Given the description of an element on the screen output the (x, y) to click on. 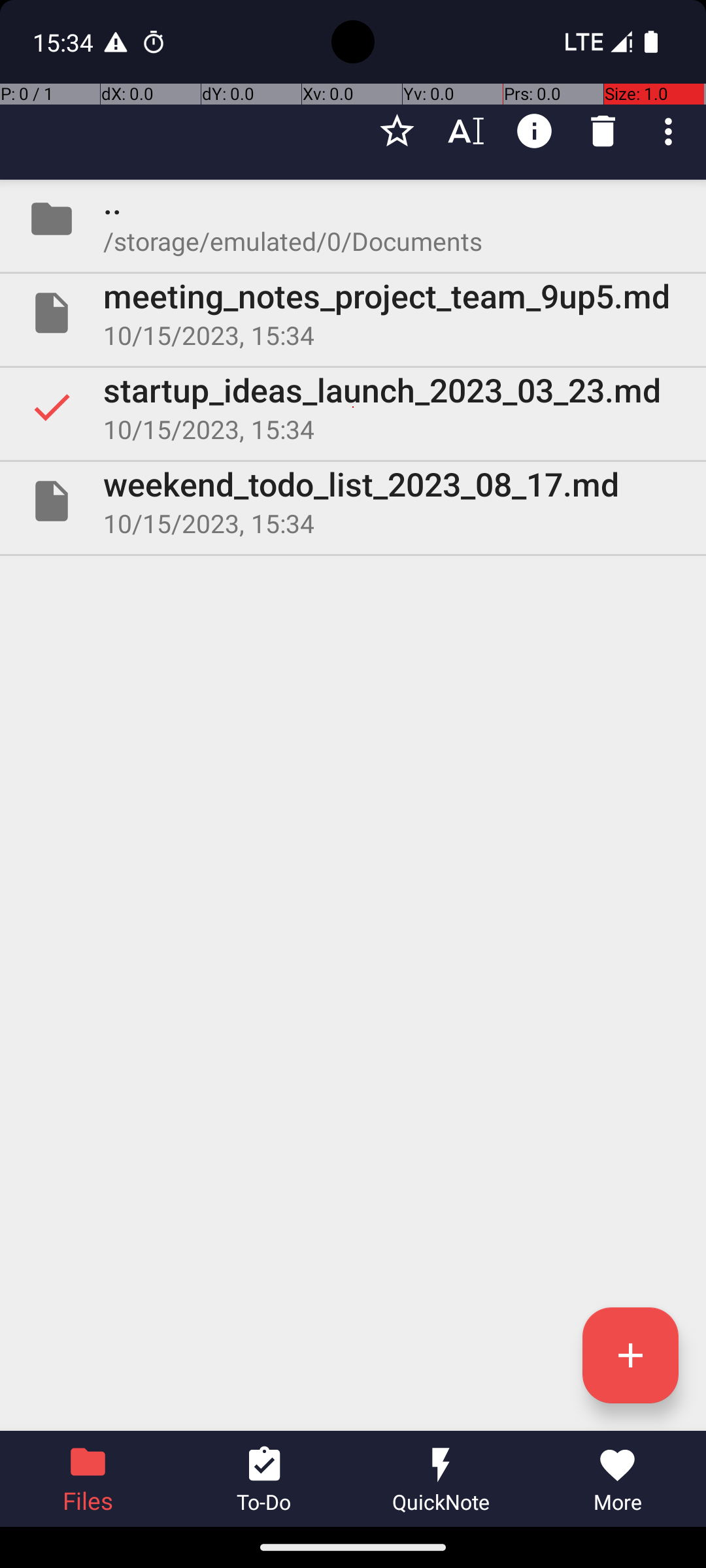
Favourite Element type: android.widget.TextView (396, 131)
Rename Element type: android.widget.TextView (465, 131)
Details Element type: android.widget.TextView (534, 131)
Folder .. /storage Element type: android.widget.LinearLayout (353, 218)
File meeting_notes_project_team_9up5.md 9/10/2024, 03:57 Element type: android.widget.LinearLayout (353, 312)
Selected startup_ideas_launch_2023_03_23.md 9/9/2024, 09:25 Element type: android.widget.LinearLayout (353, 406)
File weekend_todo_list_2023_08_17.md 9/9/2024, 09:25 Element type: android.widget.LinearLayout (353, 500)
